Given the description of an element on the screen output the (x, y) to click on. 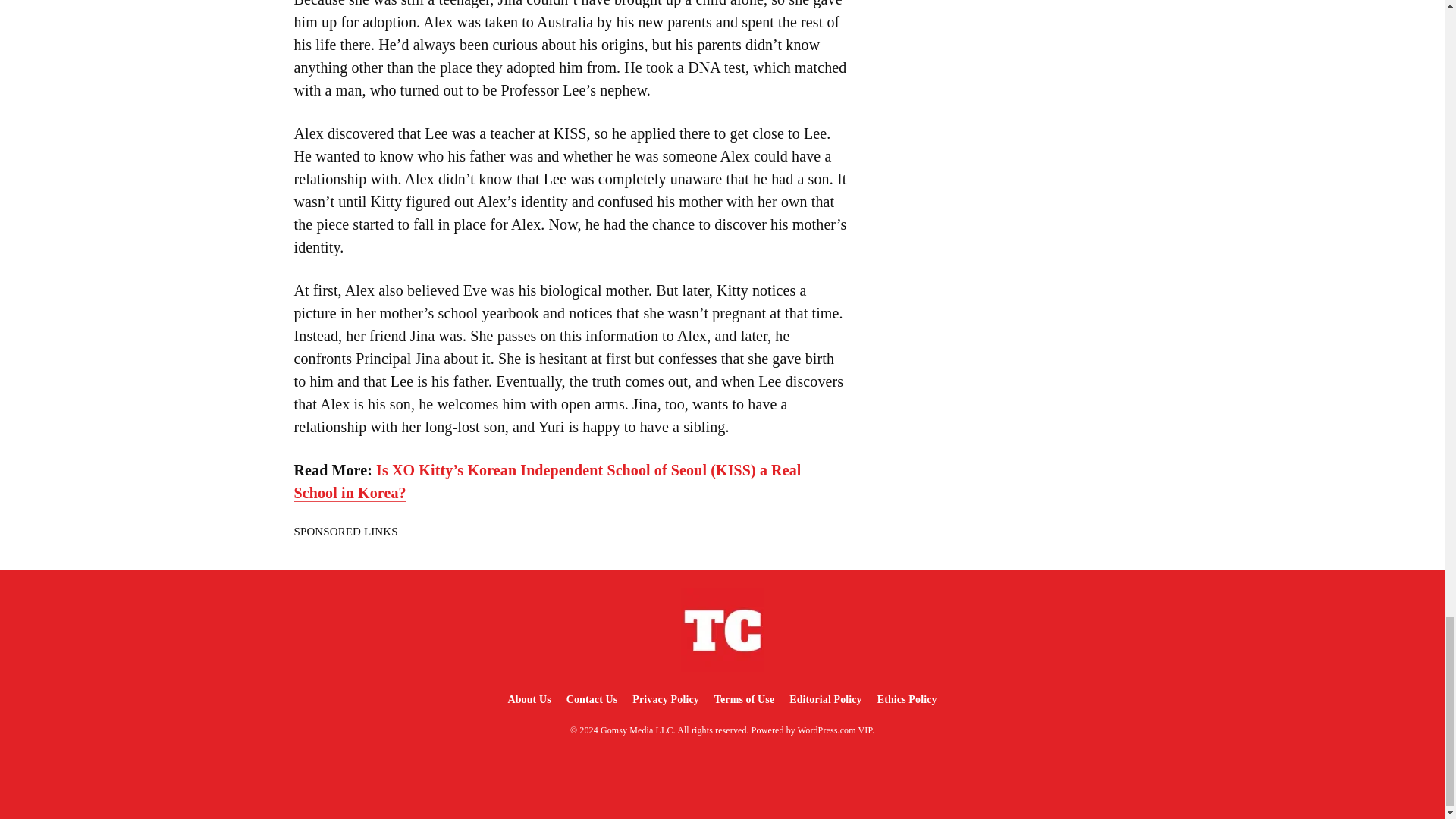
About Us (528, 699)
Editorial Policy (825, 699)
Contact Us (592, 699)
WordPress.com VIP (834, 729)
Privacy Policy (665, 699)
Ethics Policy (906, 699)
Terms of Use (743, 699)
